Given the description of an element on the screen output the (x, y) to click on. 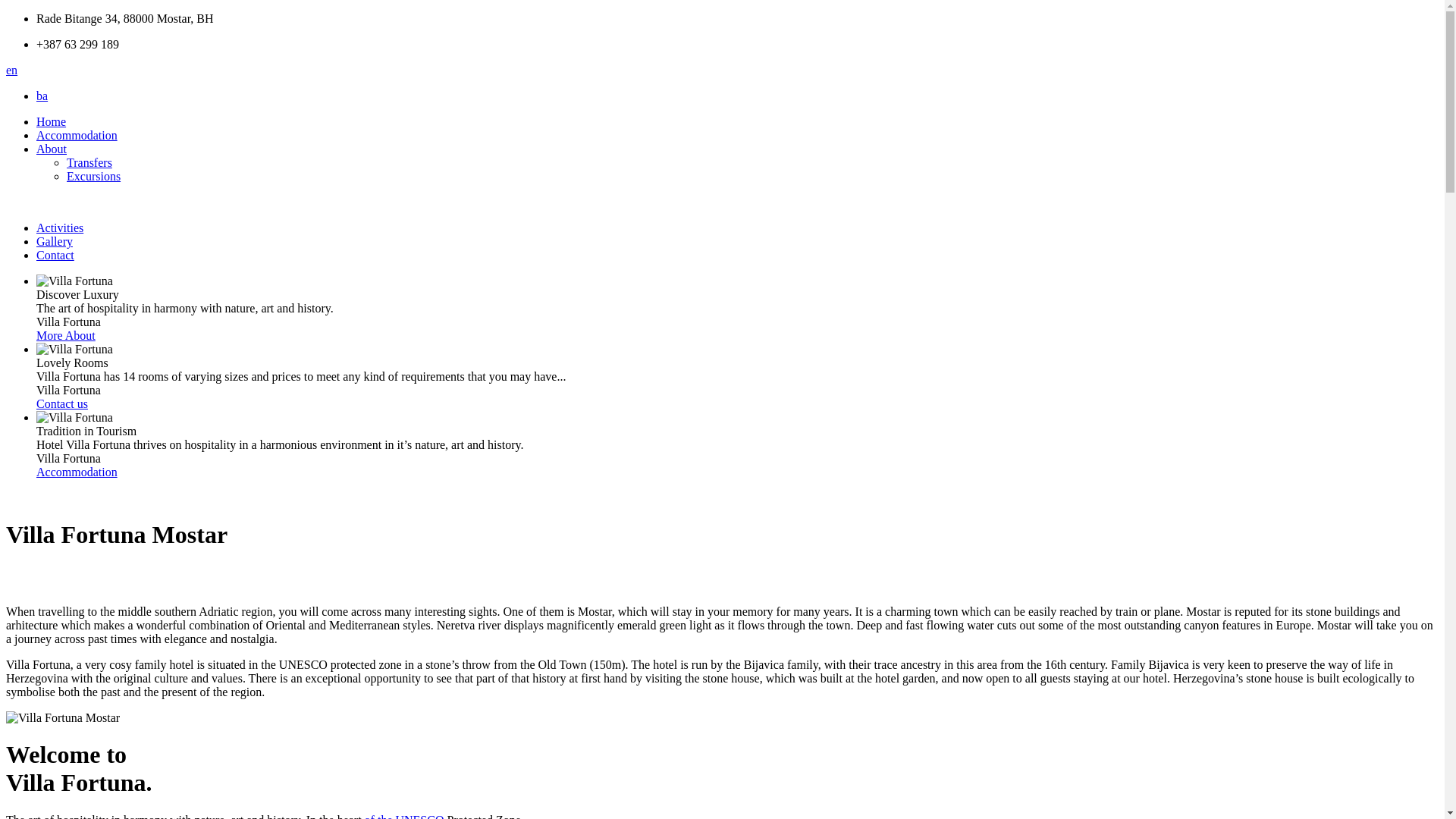
Transfers Element type: text (89, 162)
Accommodation Element type: text (76, 134)
More About Element type: text (65, 335)
en Element type: text (11, 69)
Gallery Element type: text (54, 241)
ba Element type: text (41, 95)
Accommodation Element type: text (76, 471)
Contact us Element type: text (61, 403)
Contact Element type: text (55, 254)
Excursions Element type: text (93, 175)
About Element type: text (51, 148)
Activities Element type: text (59, 227)
Home Element type: text (50, 121)
